Given the description of an element on the screen output the (x, y) to click on. 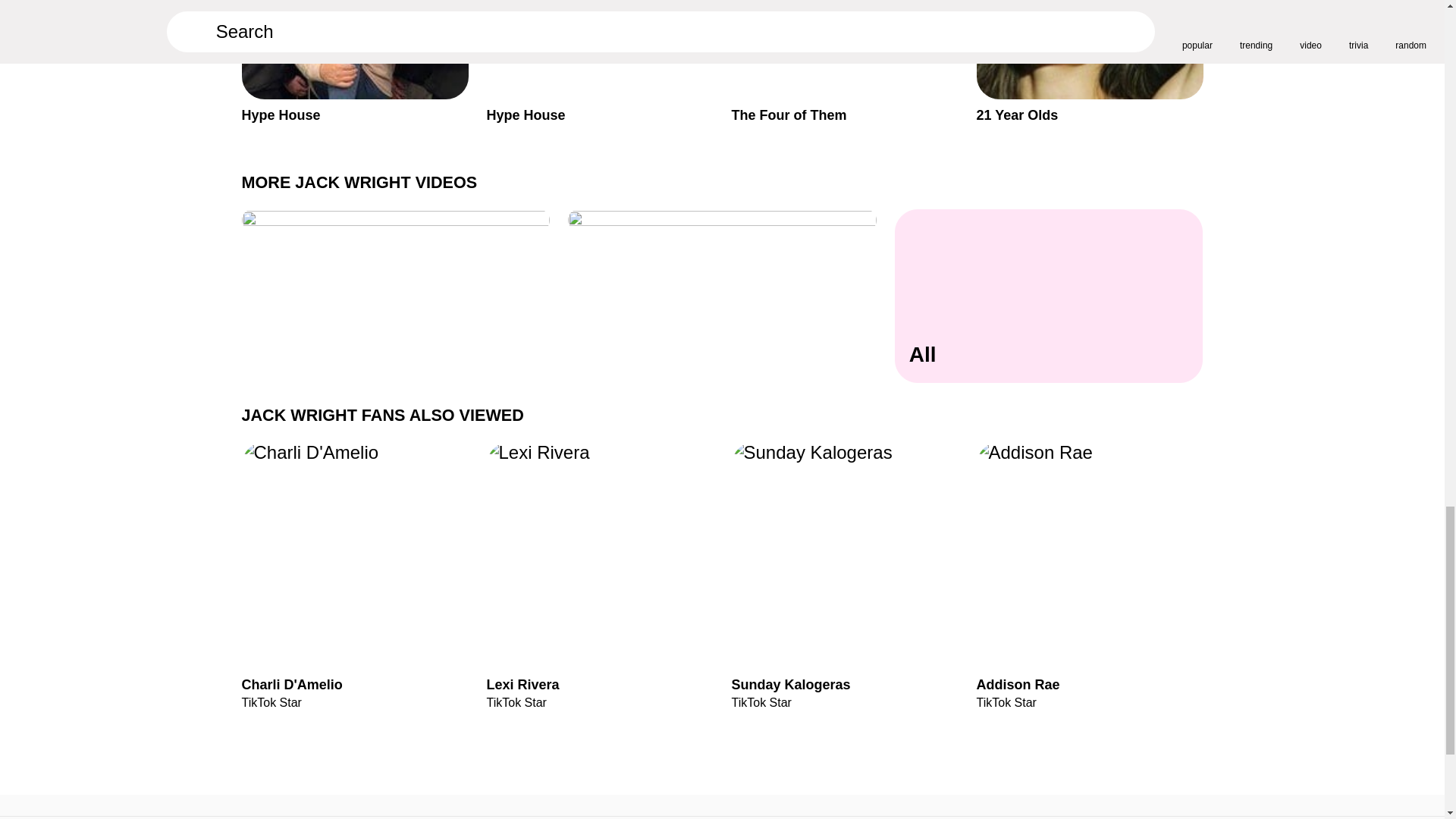
Hype House (354, 61)
21 Year Olds (1090, 61)
Hype House (599, 61)
All (1049, 296)
The Four of Them (844, 61)
